Given the description of an element on the screen output the (x, y) to click on. 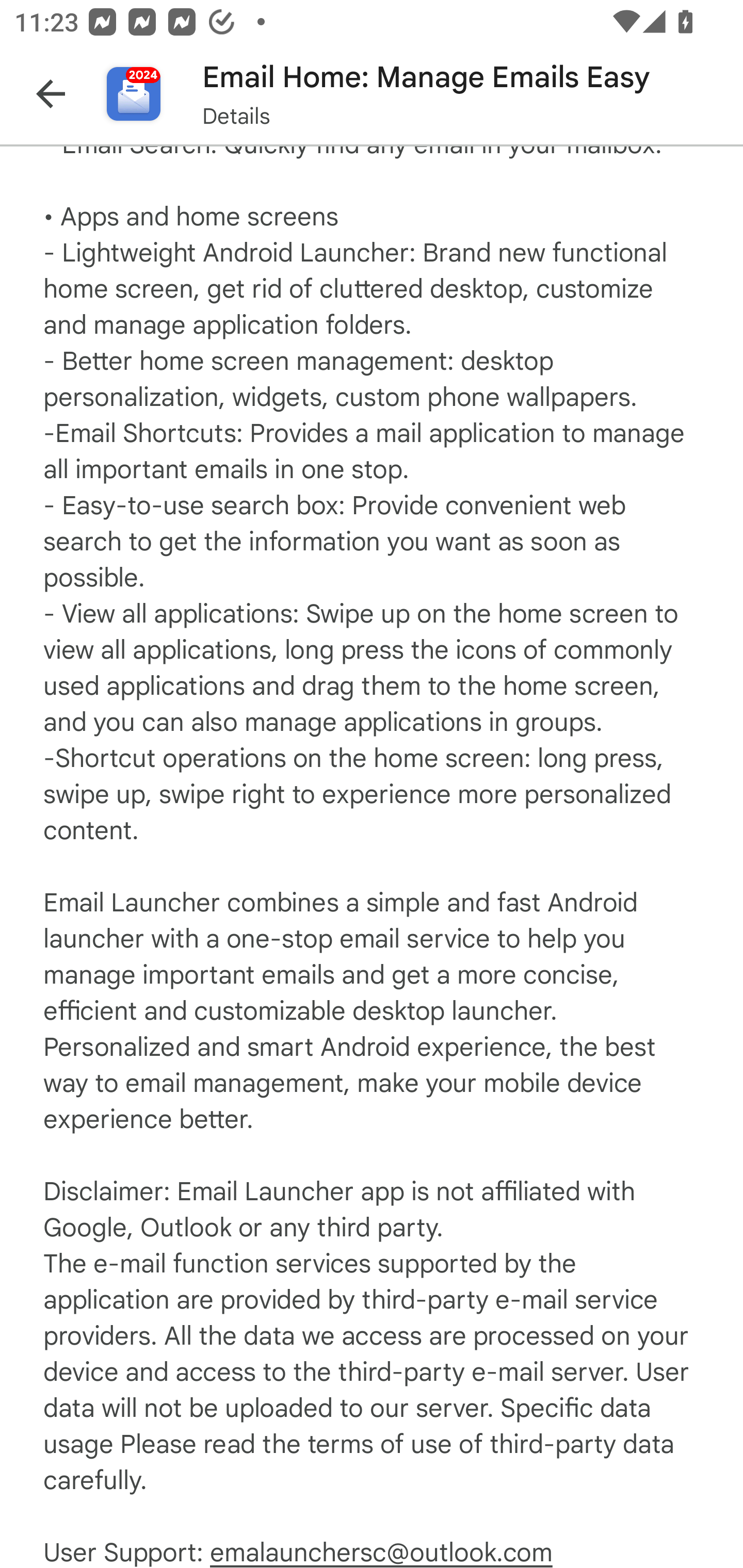
Navigate up (50, 93)
